Given the description of an element on the screen output the (x, y) to click on. 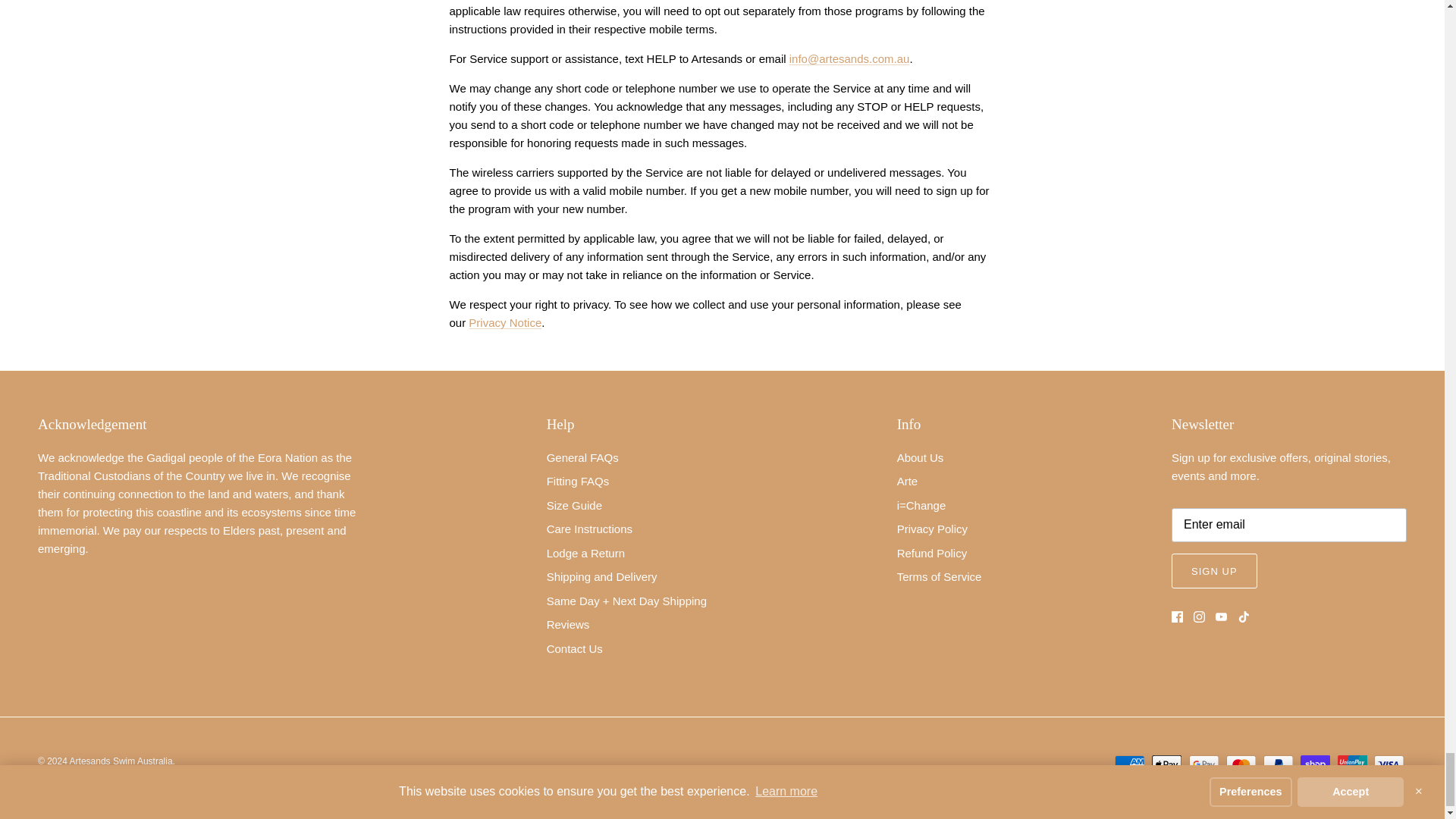
Instagram (1199, 616)
Shop Pay (1315, 764)
Google Pay (1203, 764)
Youtube (1221, 616)
American Express (1129, 764)
PayPal (1277, 764)
Union Pay (1352, 764)
Mastercard (1240, 764)
Facebook (1177, 616)
Visa (1388, 764)
Apple Pay (1166, 764)
